Given the description of an element on the screen output the (x, y) to click on. 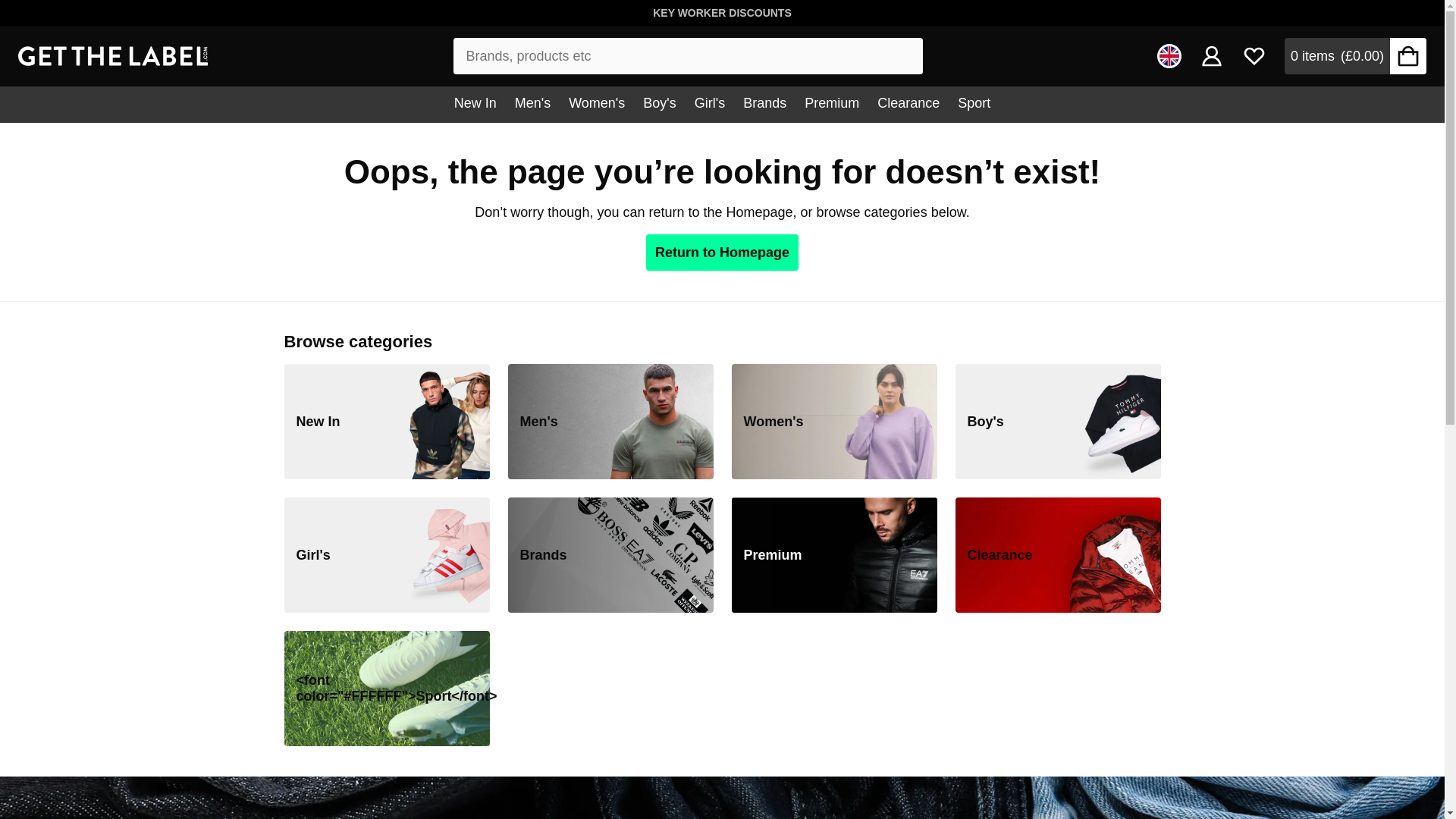
New In (475, 104)
Men's (532, 104)
KEY WORKER DISCOUNTS (722, 12)
Get The Label (112, 55)
